Given the description of an element on the screen output the (x, y) to click on. 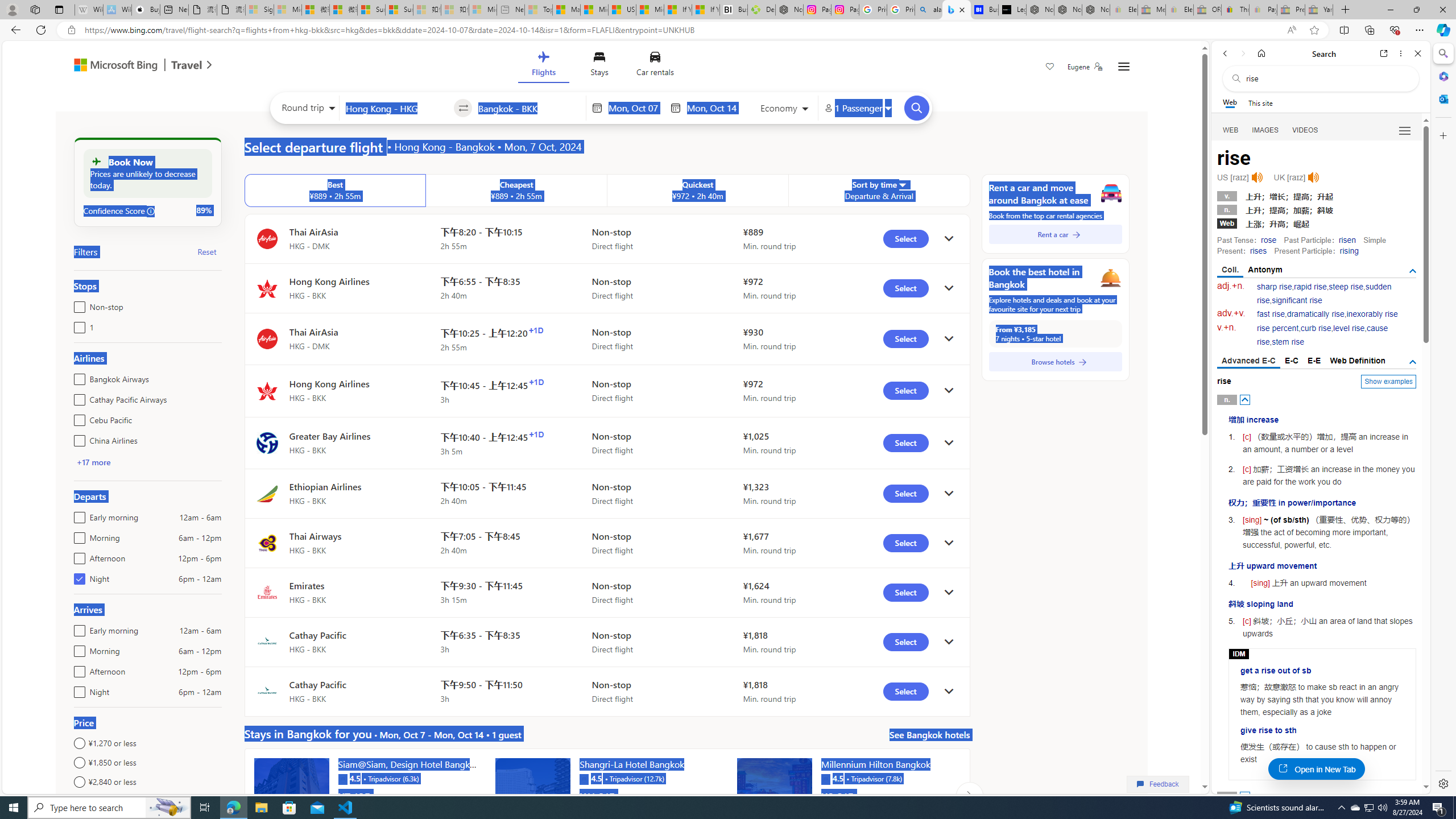
click to get details (948, 691)
Class: msft-travel-logo (186, 64)
significant rise (1296, 300)
Save (1049, 67)
Car rentals (654, 65)
rose (1268, 239)
